Given the description of an element on the screen output the (x, y) to click on. 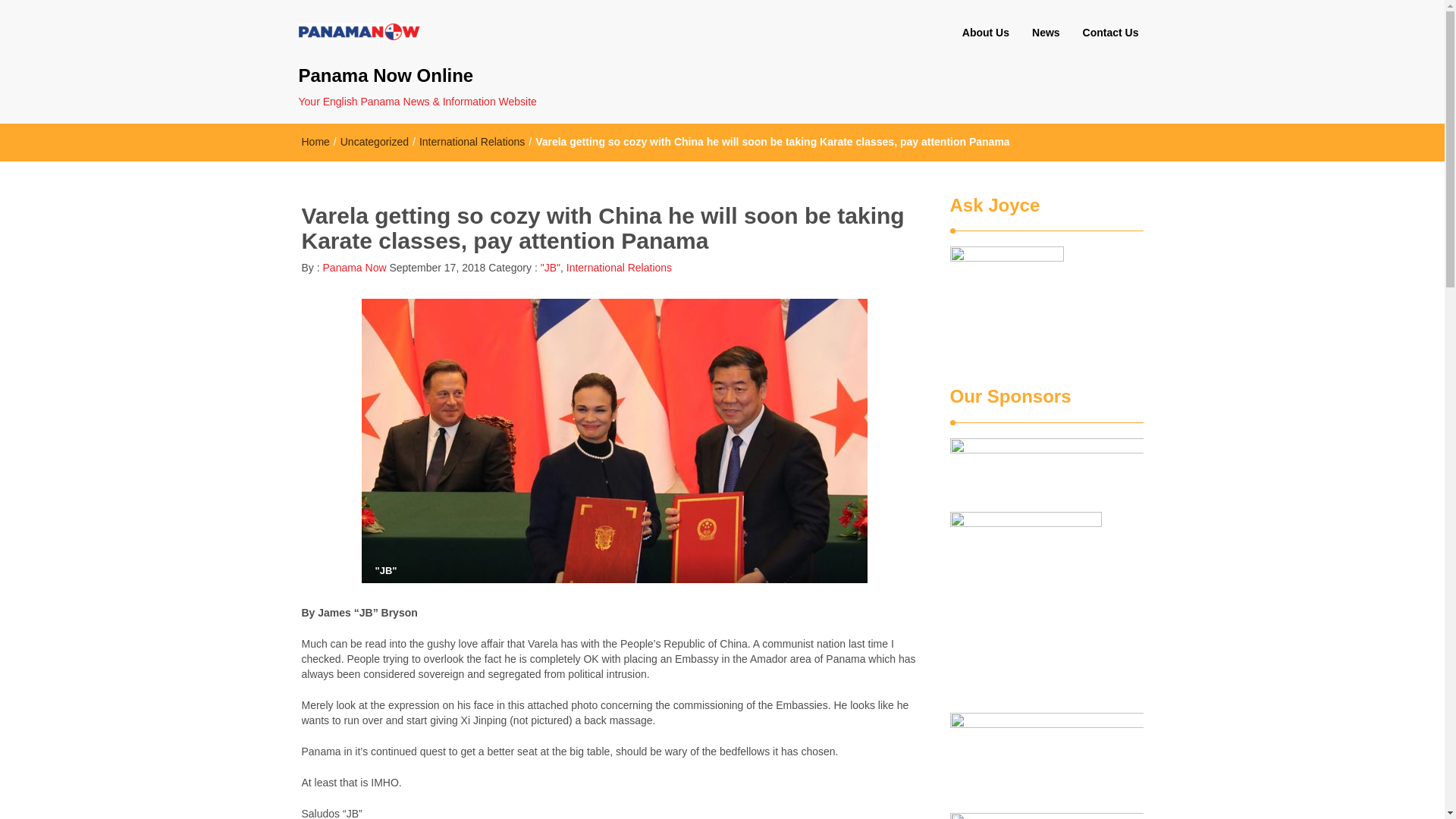
International Relations (618, 267)
Panama Now (353, 267)
Uncategorized (374, 141)
"JB" (550, 267)
International Relations (471, 141)
News (1045, 32)
Panama Now Online (446, 75)
About Us (985, 32)
Home (315, 141)
Home (315, 141)
Contact Us (1110, 32)
